Given the description of an element on the screen output the (x, y) to click on. 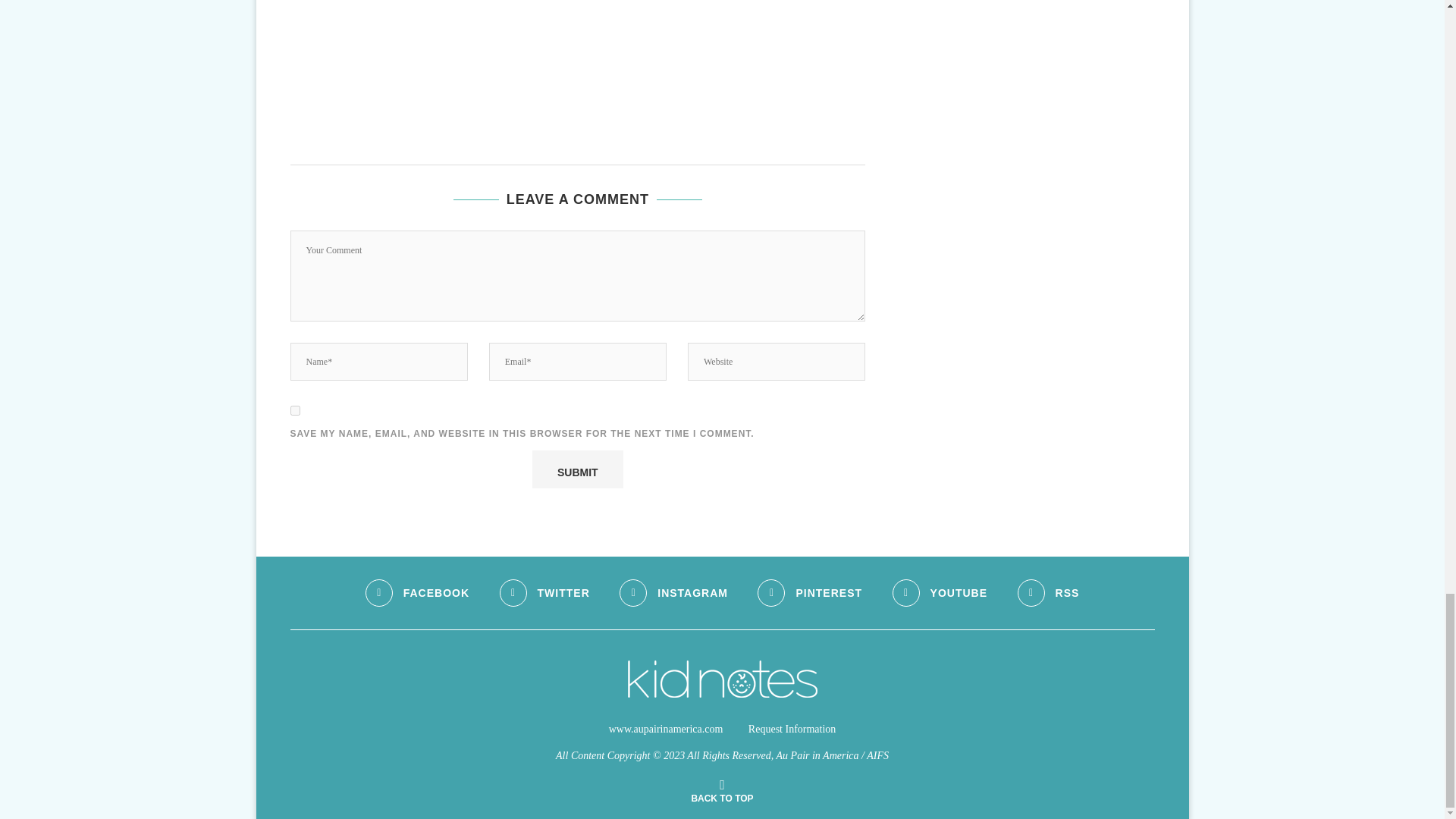
Submit (577, 469)
yes (294, 410)
